Given the description of an element on the screen output the (x, y) to click on. 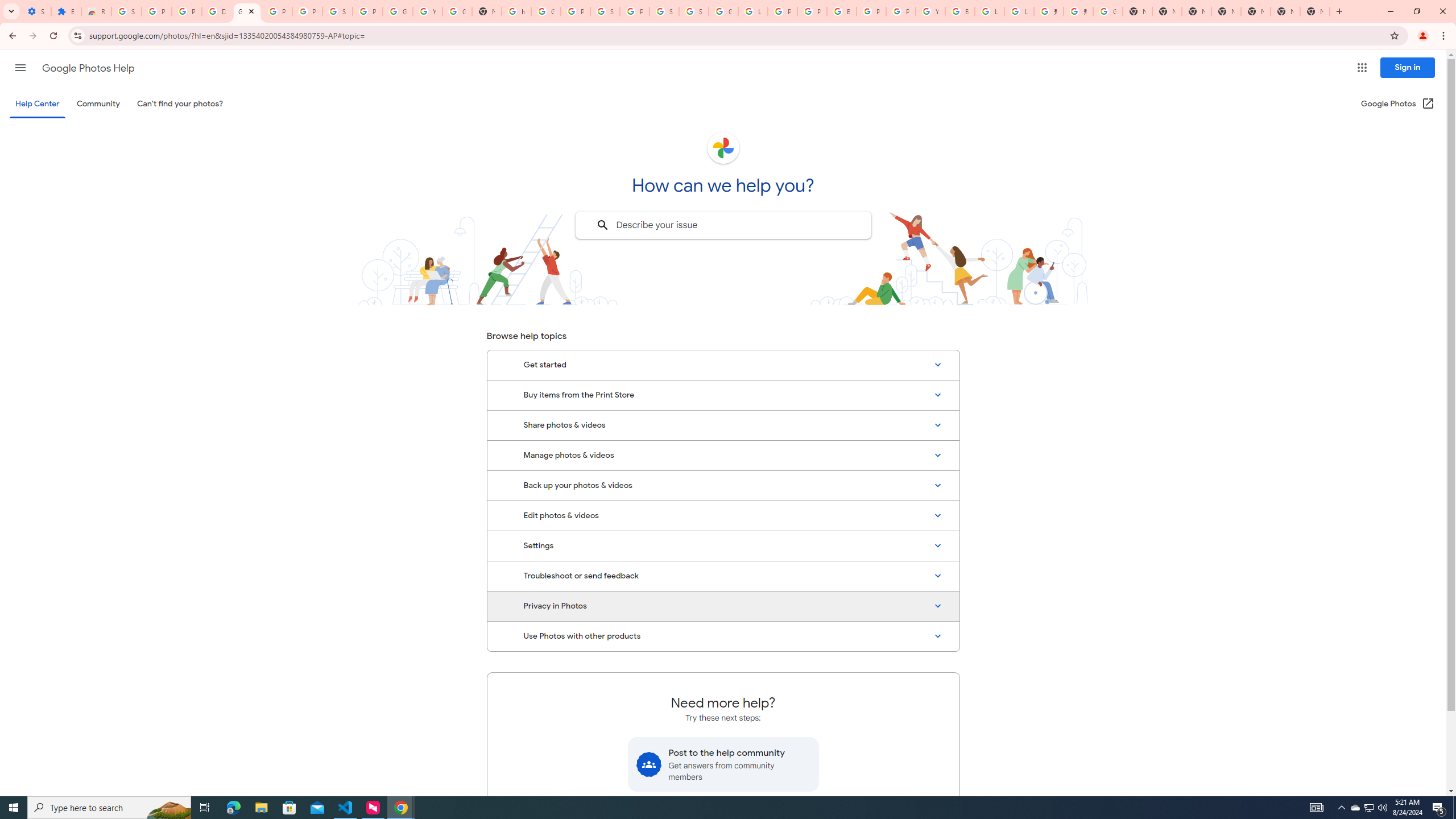
Get started (722, 365)
Share photos & videos (722, 425)
Privacy Help Center - Policies Help (811, 11)
YouTube (426, 11)
Settings (722, 546)
Google Images (1107, 11)
Community (97, 103)
Google Account (397, 11)
Google Photos Help (247, 11)
